Given the description of an element on the screen output the (x, y) to click on. 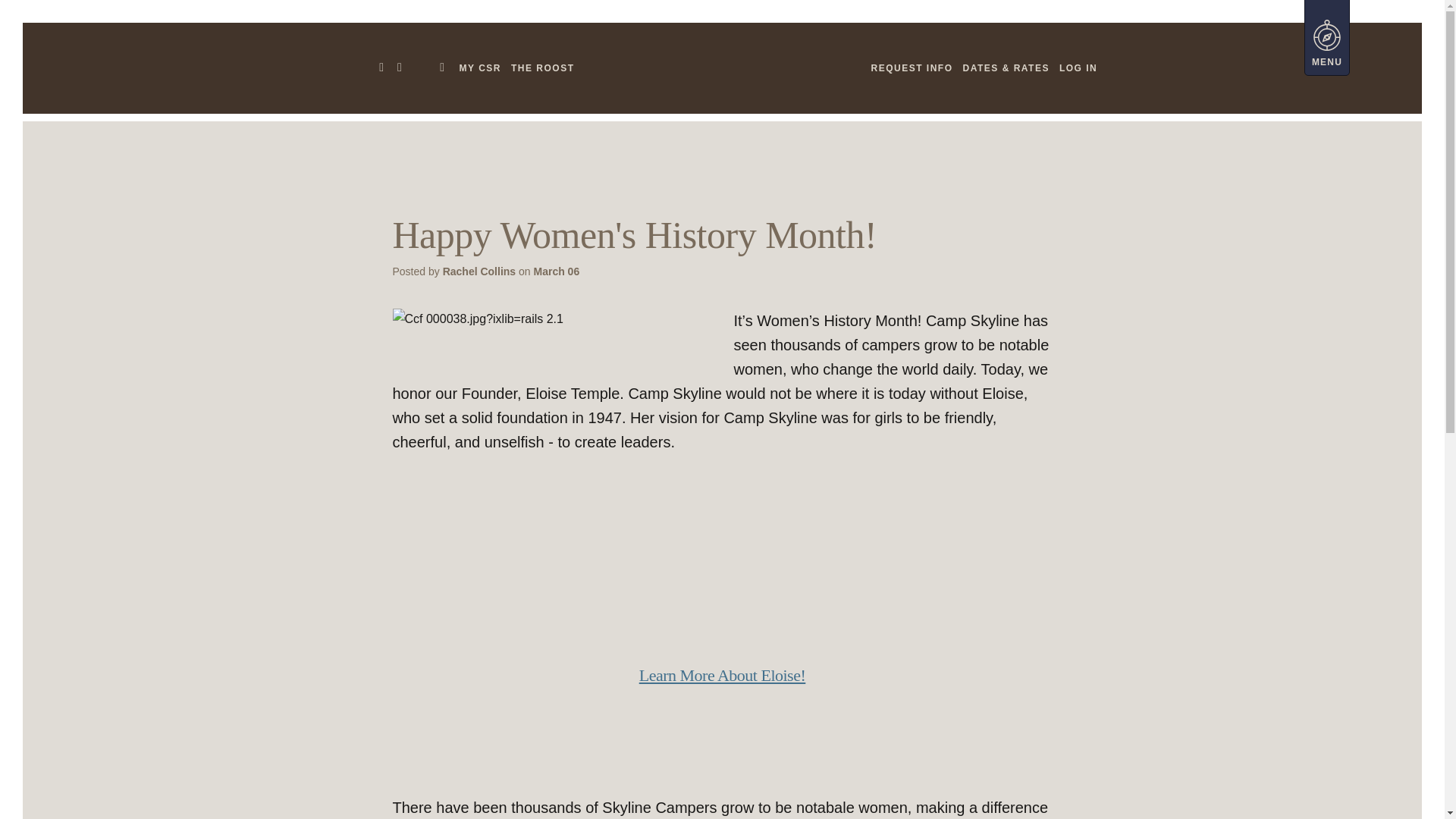
LOG IN (1078, 68)
THE ROOST (542, 68)
MY CSR (480, 68)
Learn More About Eloise! (722, 674)
REQUEST INFO (911, 68)
